Given the description of an element on the screen output the (x, y) to click on. 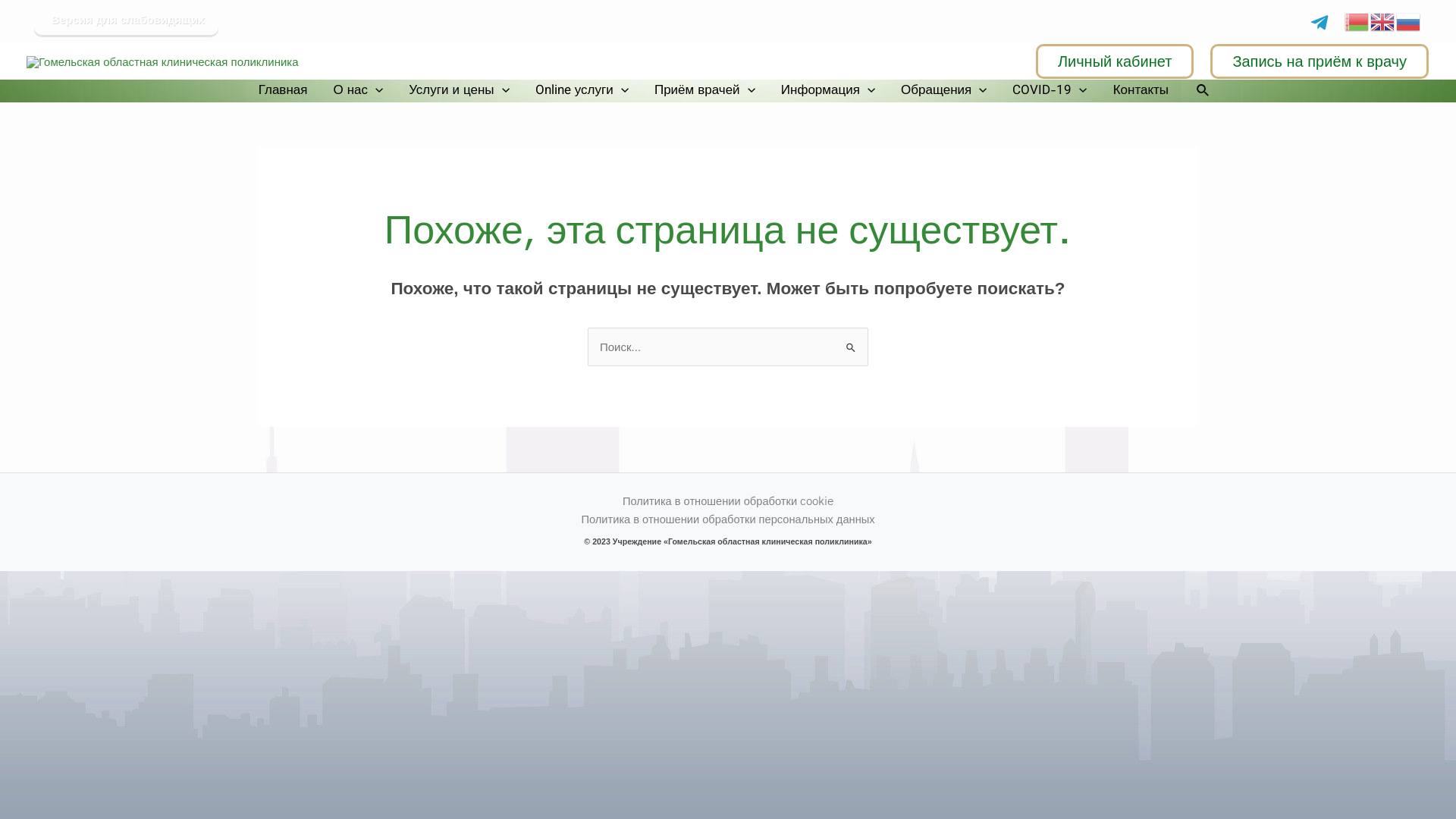
Belarusian Element type: hover (1357, 19)
Russian Element type: hover (1408, 19)
English Element type: hover (1383, 19)
COVID-19 Element type: text (1049, 90)
